Given the description of an element on the screen output the (x, y) to click on. 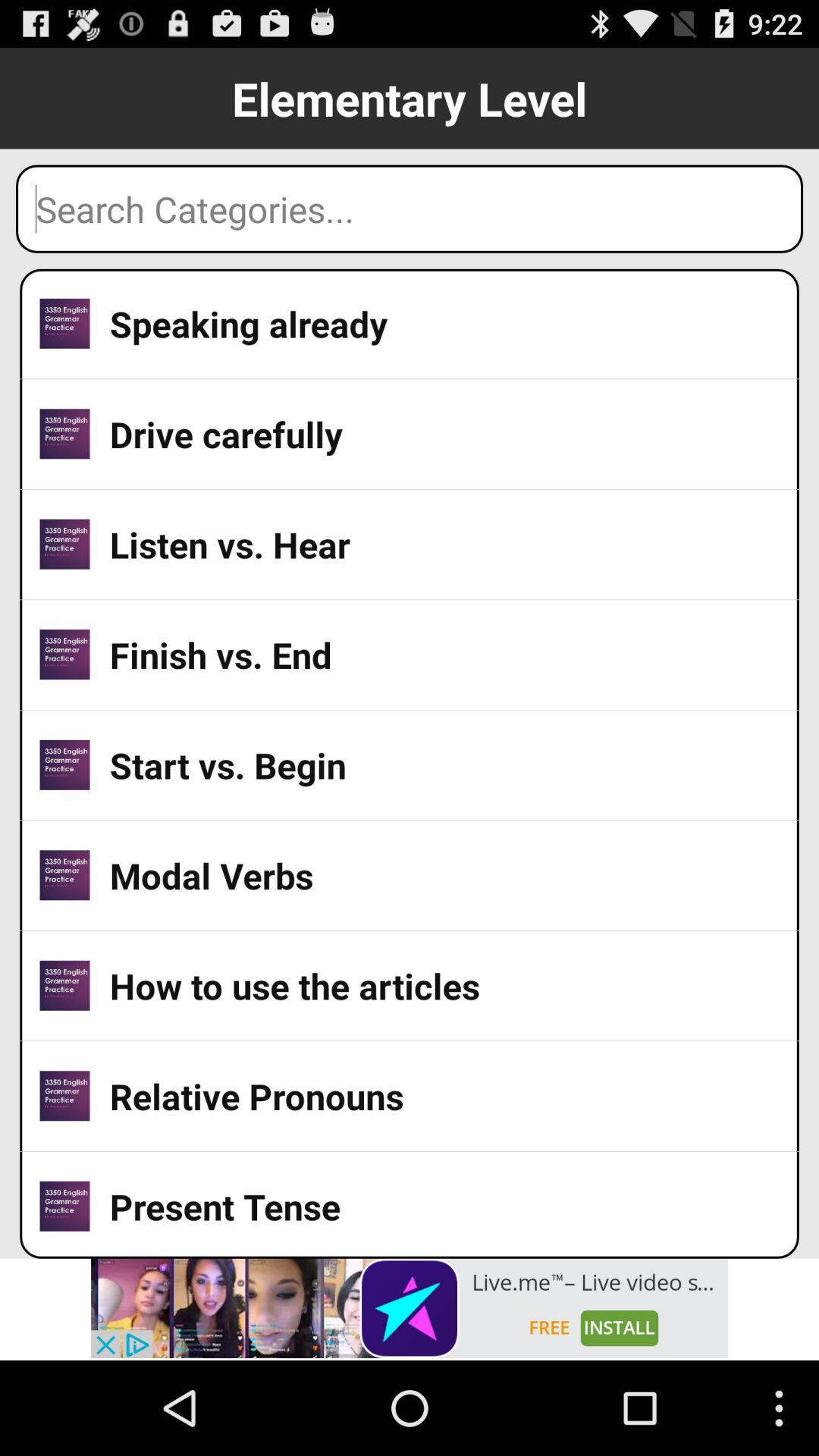
showing the advertisement (409, 1308)
